Given the description of an element on the screen output the (x, y) to click on. 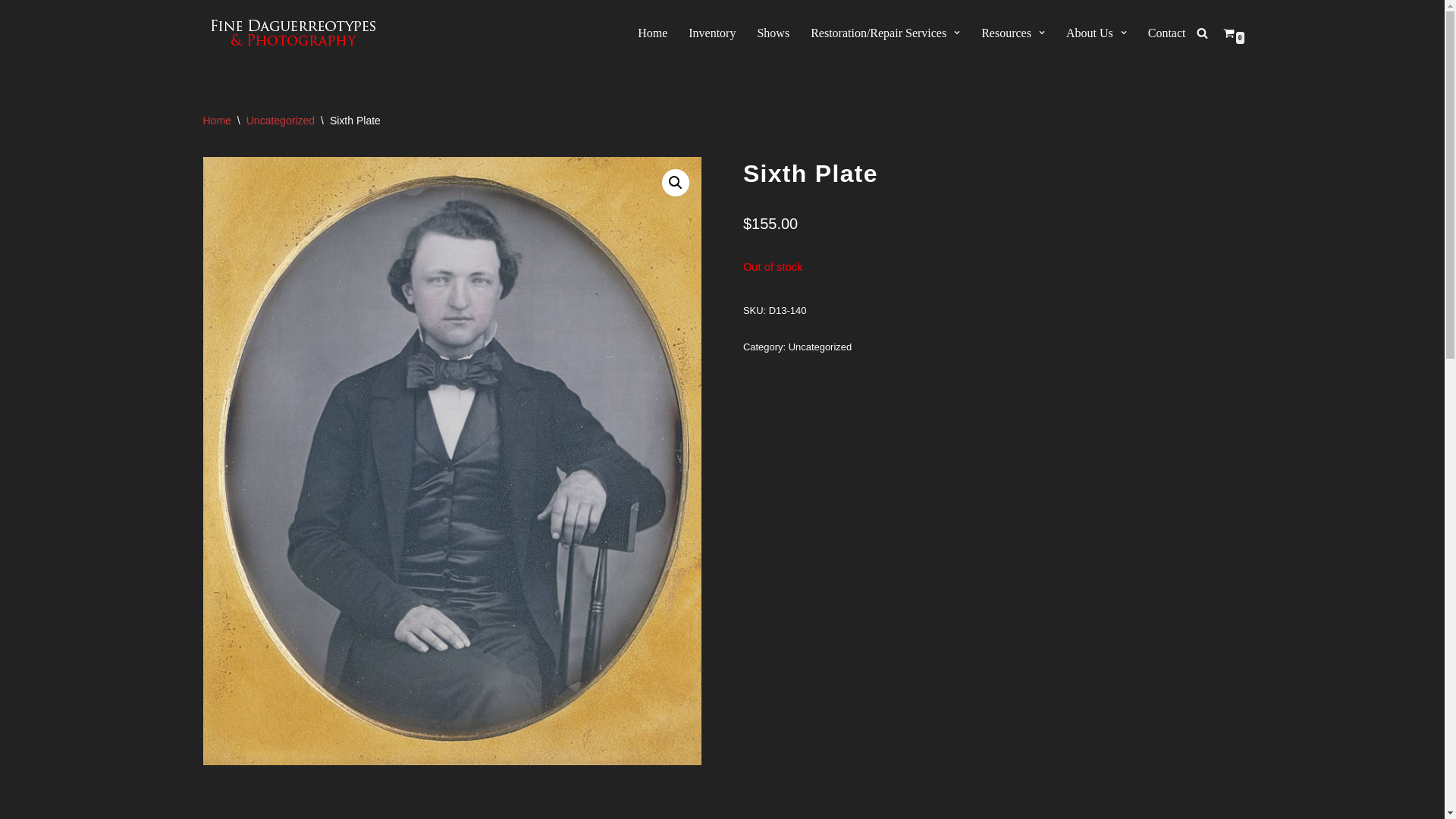
Home (651, 32)
Skip to content (11, 31)
Shows (773, 32)
0 (1228, 32)
Inventory (711, 32)
Resources (1005, 32)
About Us (1089, 32)
Contact (1167, 32)
